Given the description of an element on the screen output the (x, y) to click on. 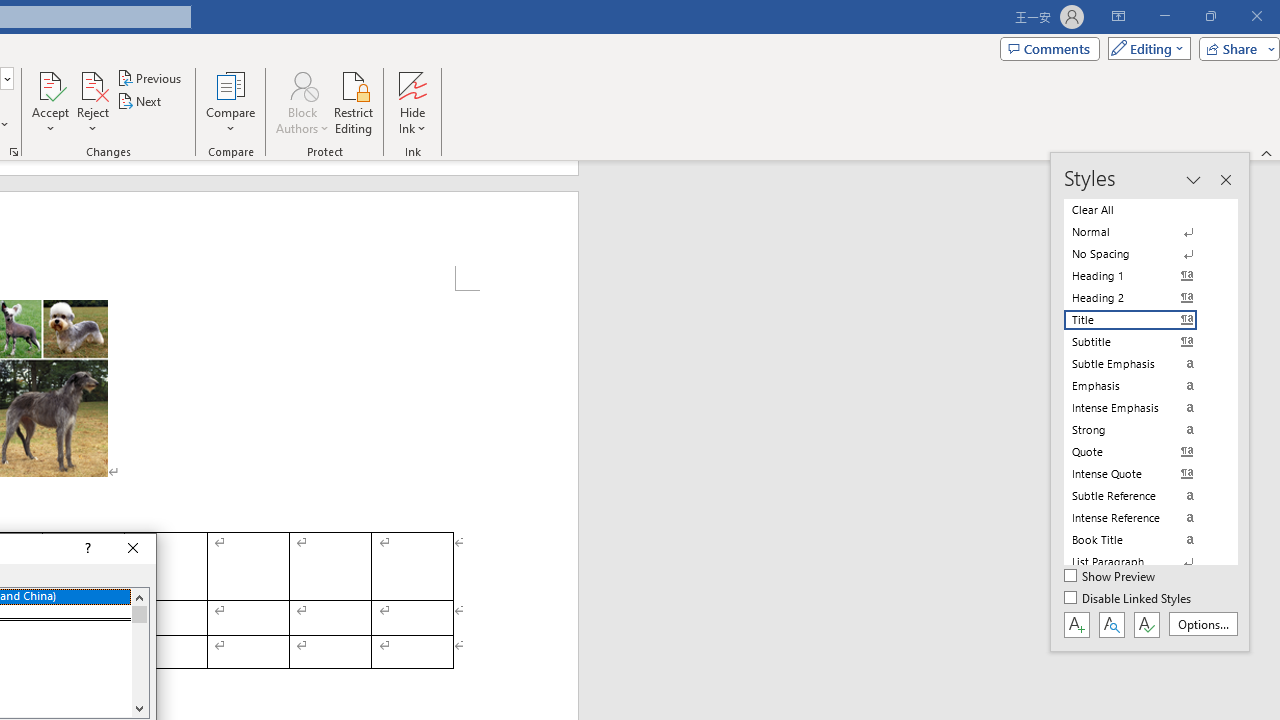
Subtle Emphasis (1142, 363)
List Paragraph (1142, 561)
Hide Ink (412, 102)
Change Tracking Options... (13, 151)
Line up (139, 597)
Hide Ink (412, 84)
Options... (1202, 623)
